Given the description of an element on the screen output the (x, y) to click on. 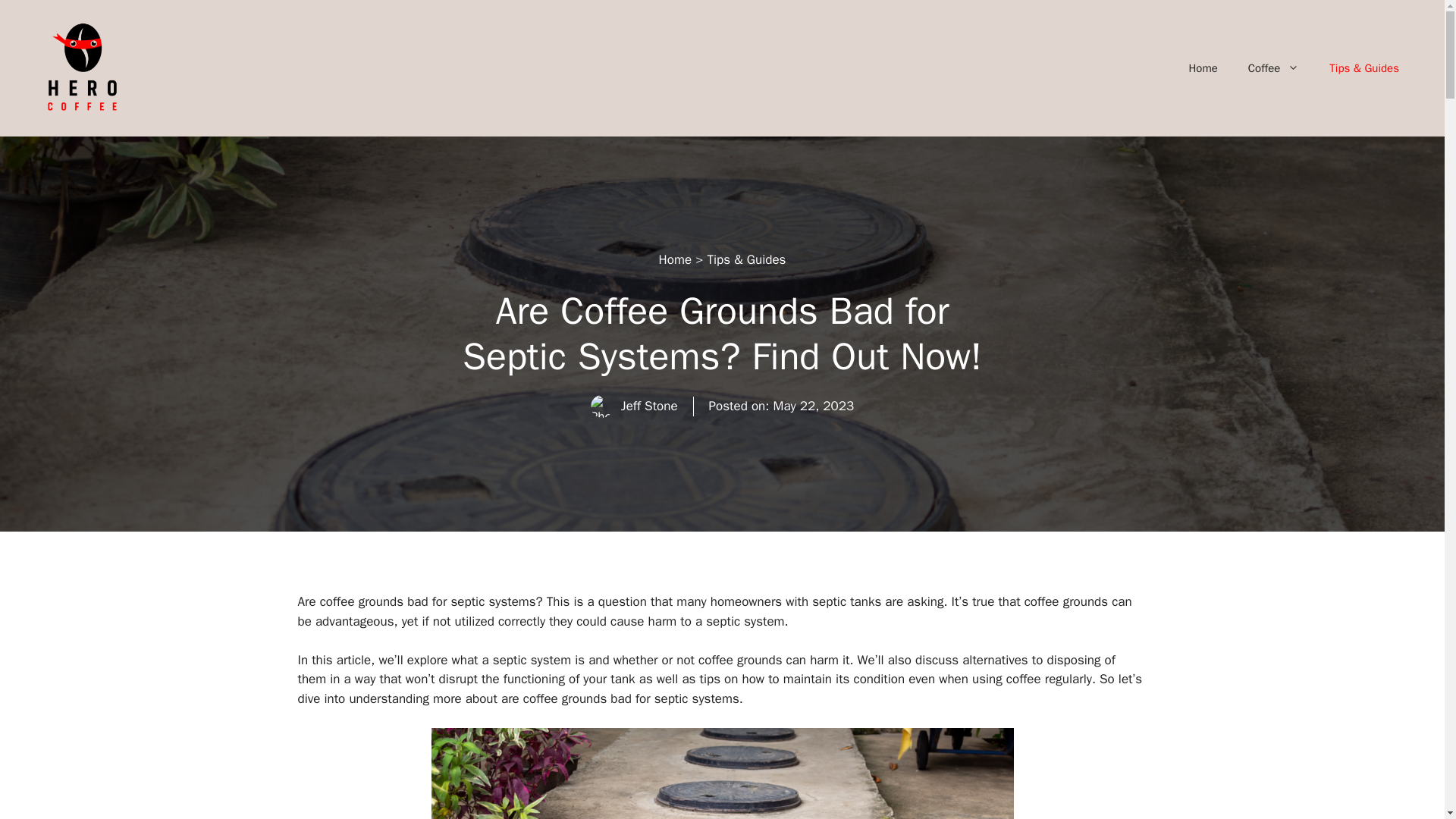
Coffee (1273, 67)
Home (675, 259)
Home (1202, 67)
